Given the description of an element on the screen output the (x, y) to click on. 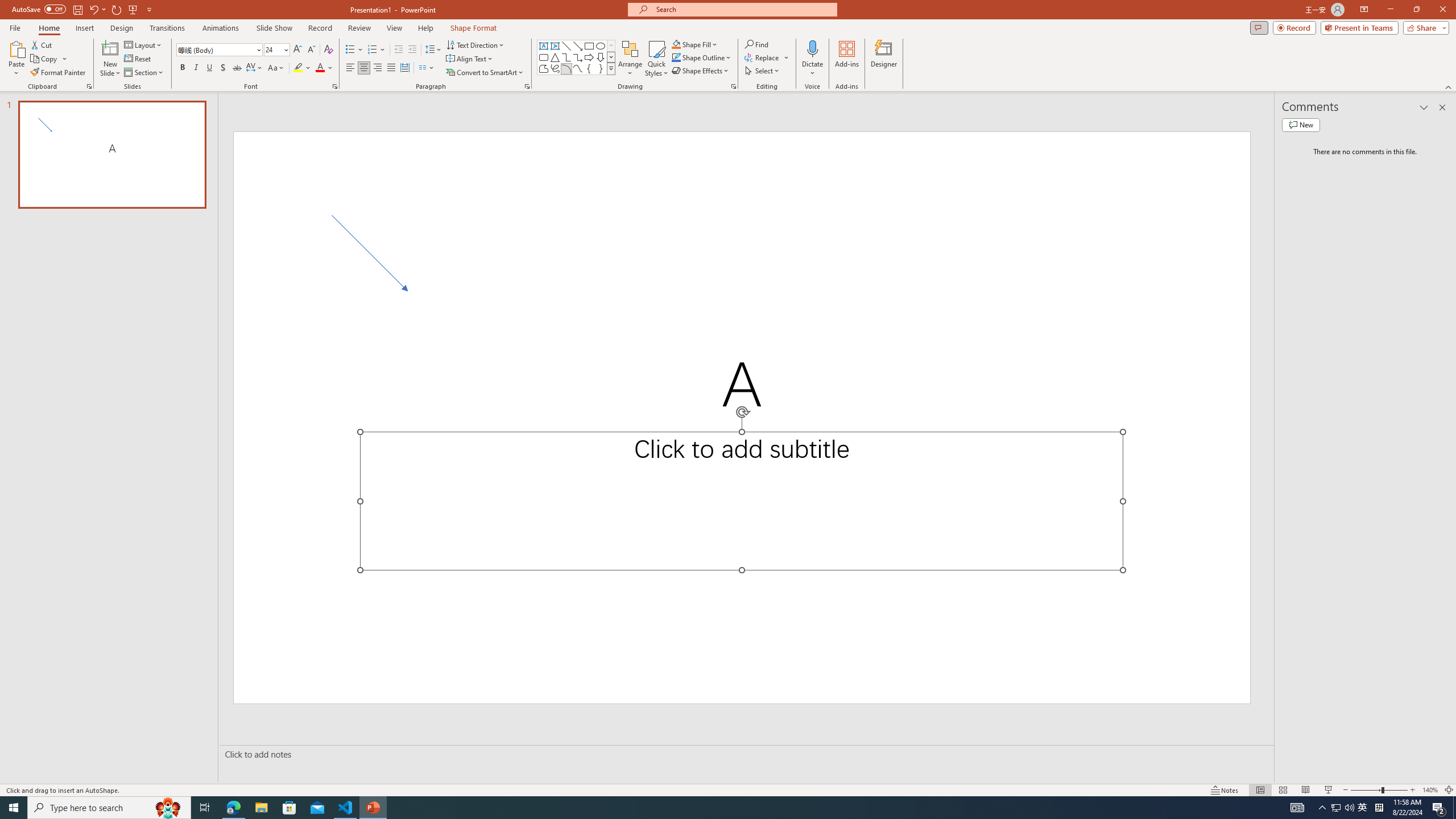
Shape Effects (700, 69)
